Given the description of an element on the screen output the (x, y) to click on. 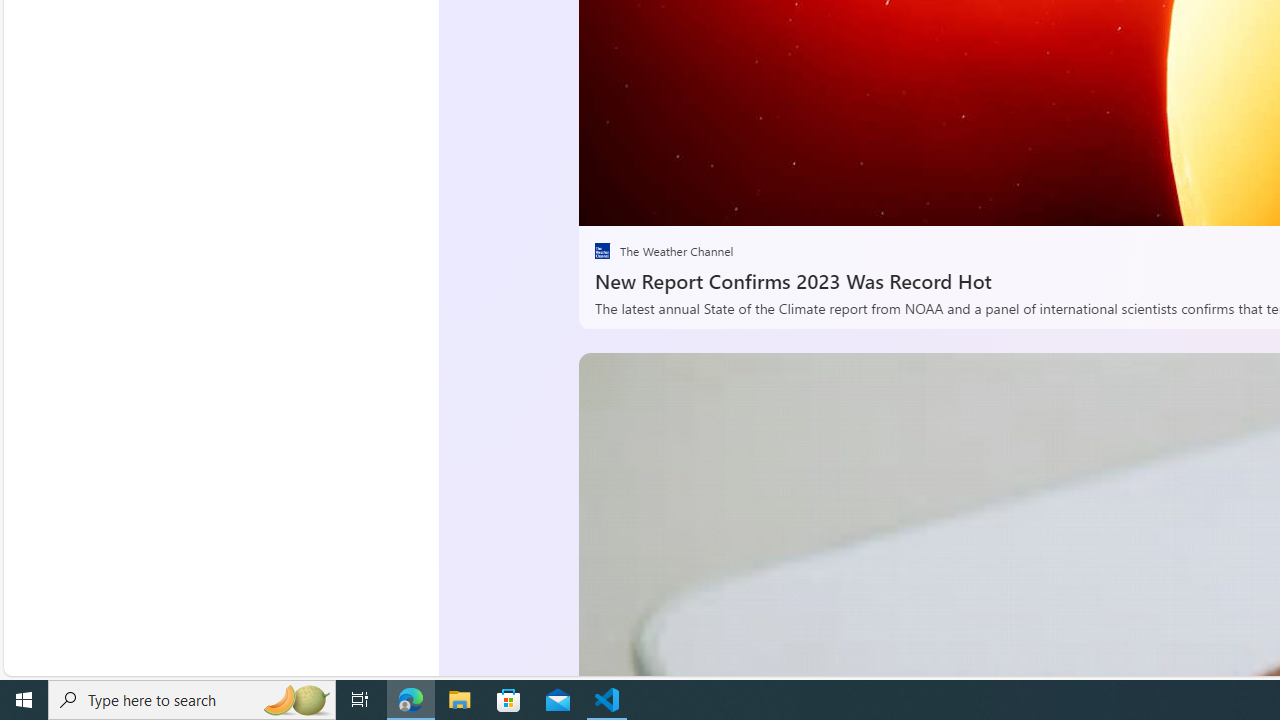
Seek Back (648, 203)
Pause (607, 203)
Seek Forward (688, 203)
placeholder The Weather Channel (663, 251)
placeholder (601, 251)
